Given the description of an element on the screen output the (x, y) to click on. 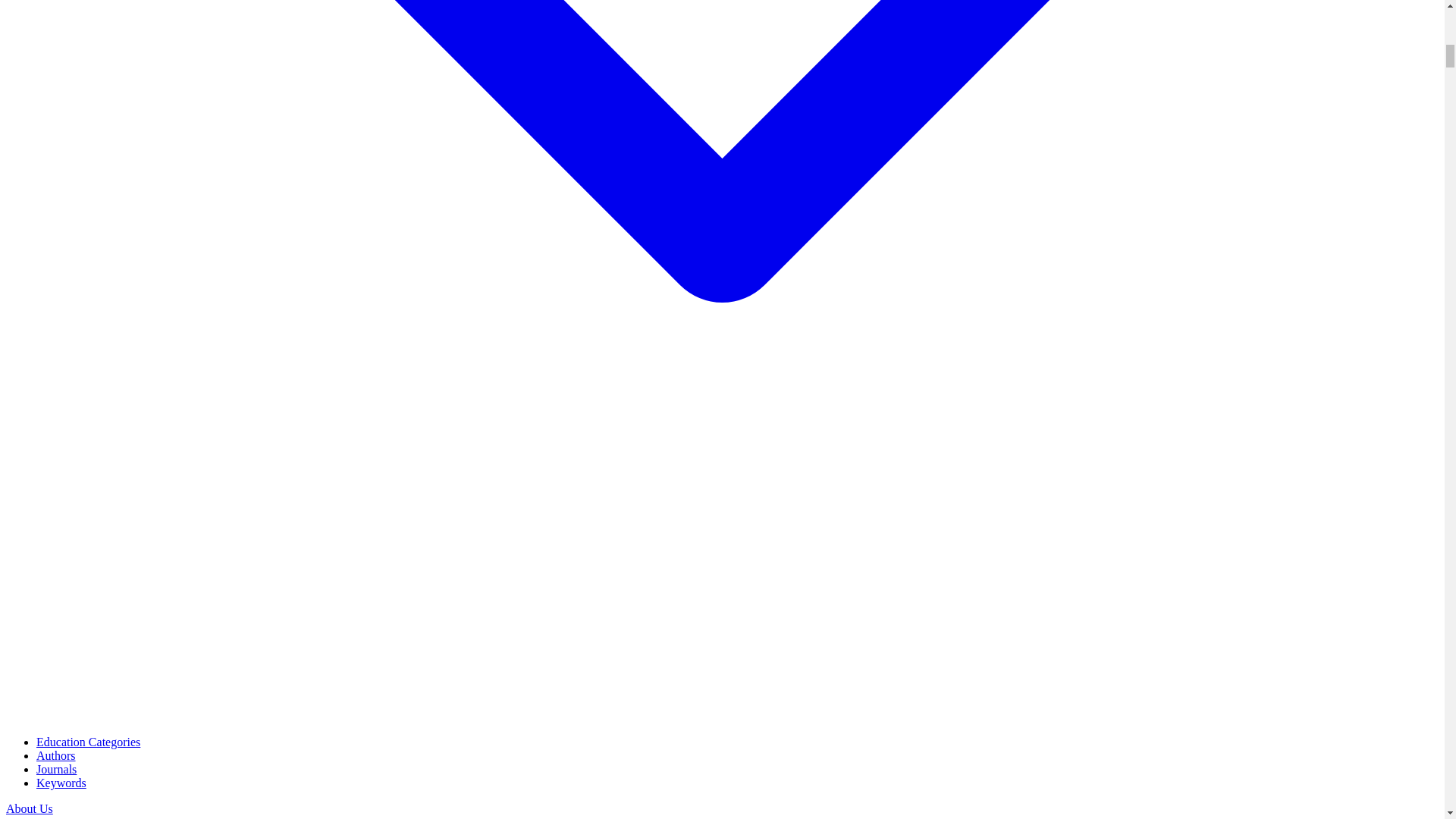
Education Categories (87, 741)
Authors (55, 755)
Journals (56, 768)
About Us (28, 808)
Keywords (60, 782)
